Given the description of an element on the screen output the (x, y) to click on. 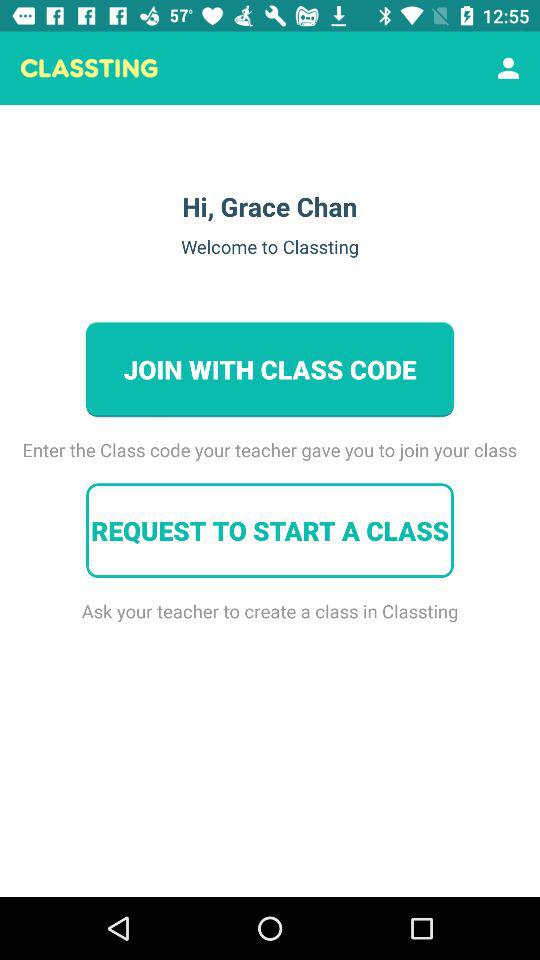
tap icon at the top right corner (508, 67)
